Given the description of an element on the screen output the (x, y) to click on. 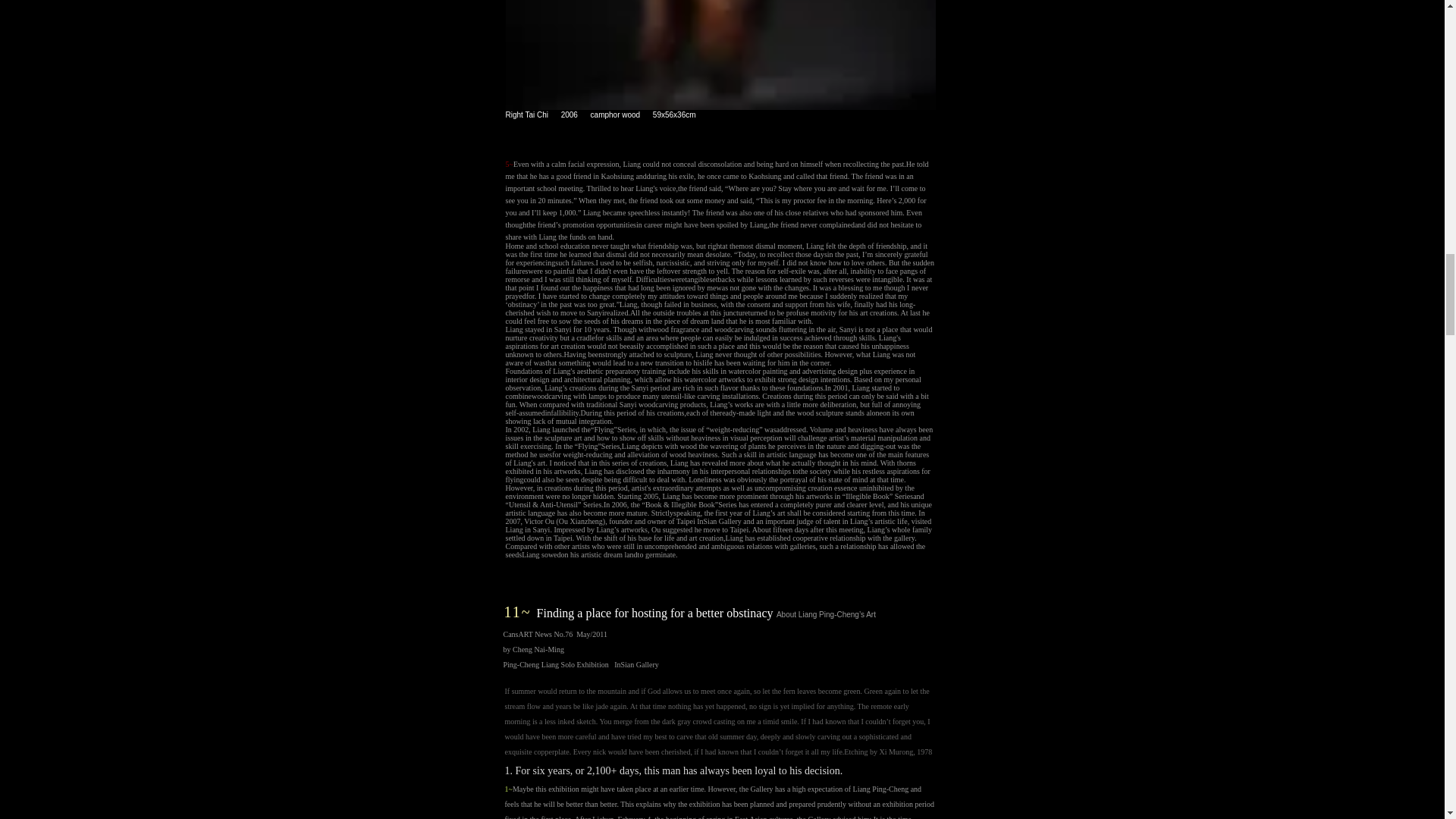
f01.jpg (719, 54)
